Given the description of an element on the screen output the (x, y) to click on. 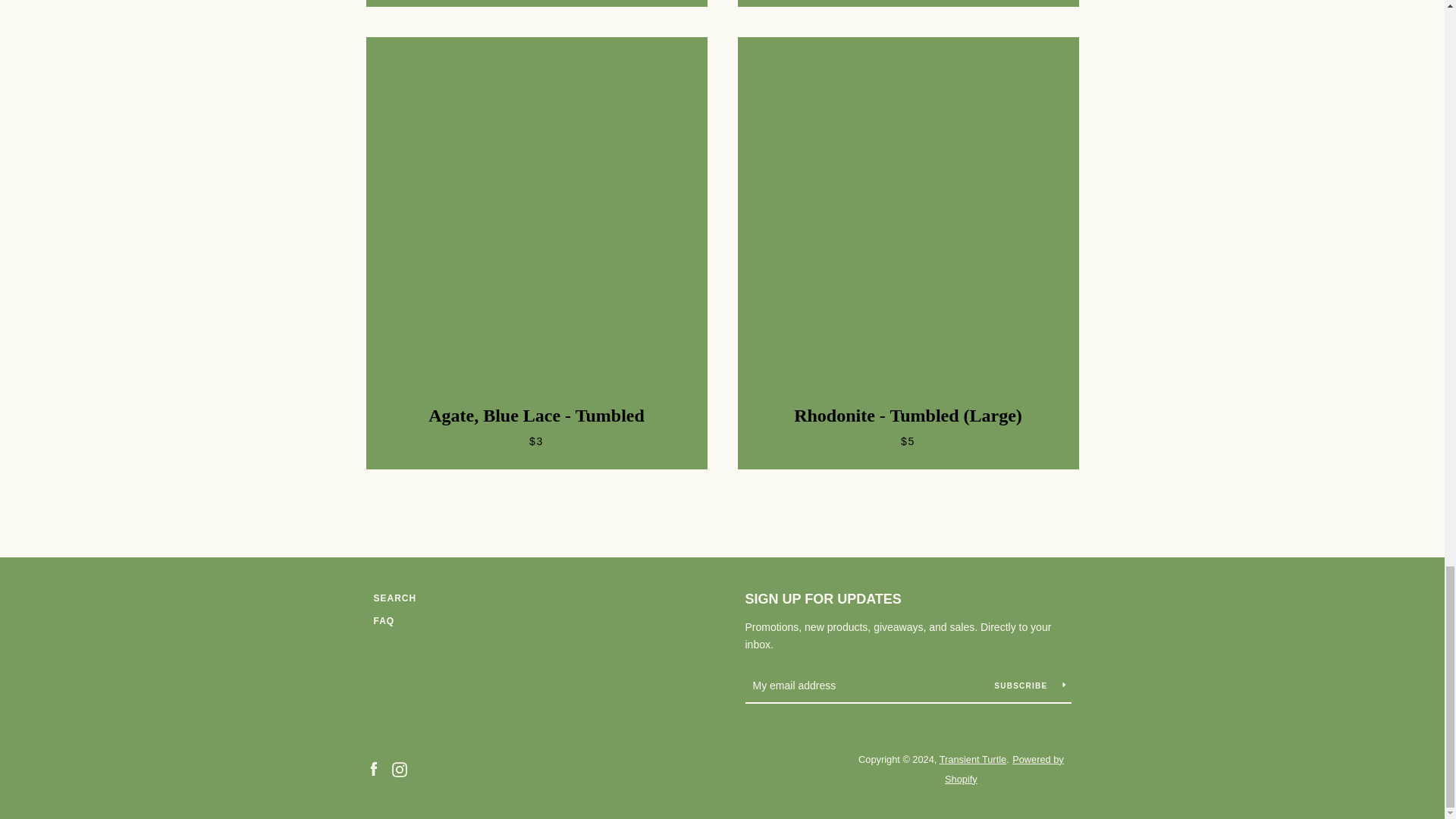
Transient Turtle on Instagram (399, 768)
Transient Turtle on Facebook (372, 768)
SEARCH (394, 597)
